Given the description of an element on the screen output the (x, y) to click on. 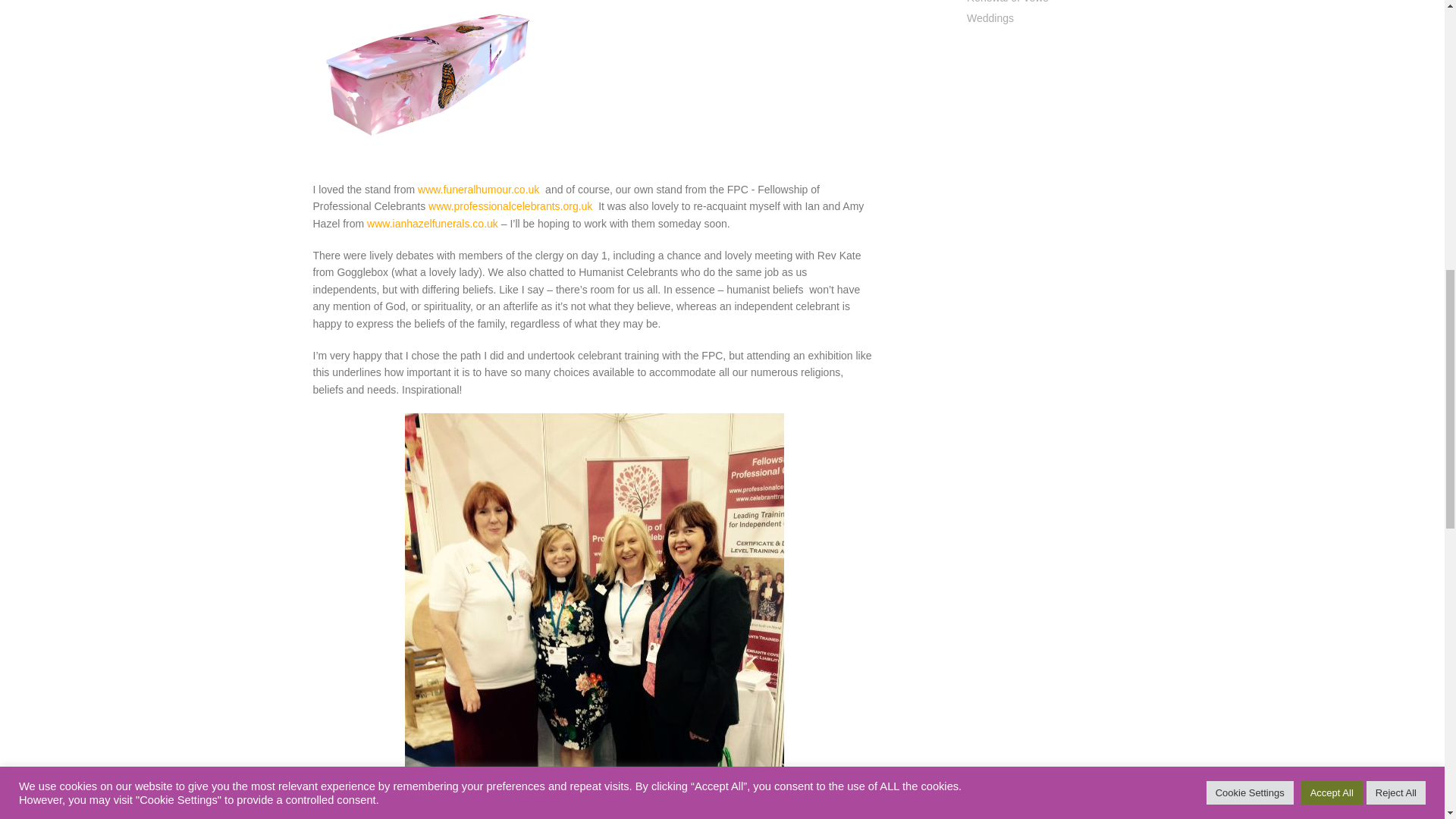
www.professionalcelebrants.org.uk (510, 205)
www.funeralhumour.co.uk (477, 189)
www.ianhazelfunerals.co.uk (431, 223)
